Given the description of an element on the screen output the (x, y) to click on. 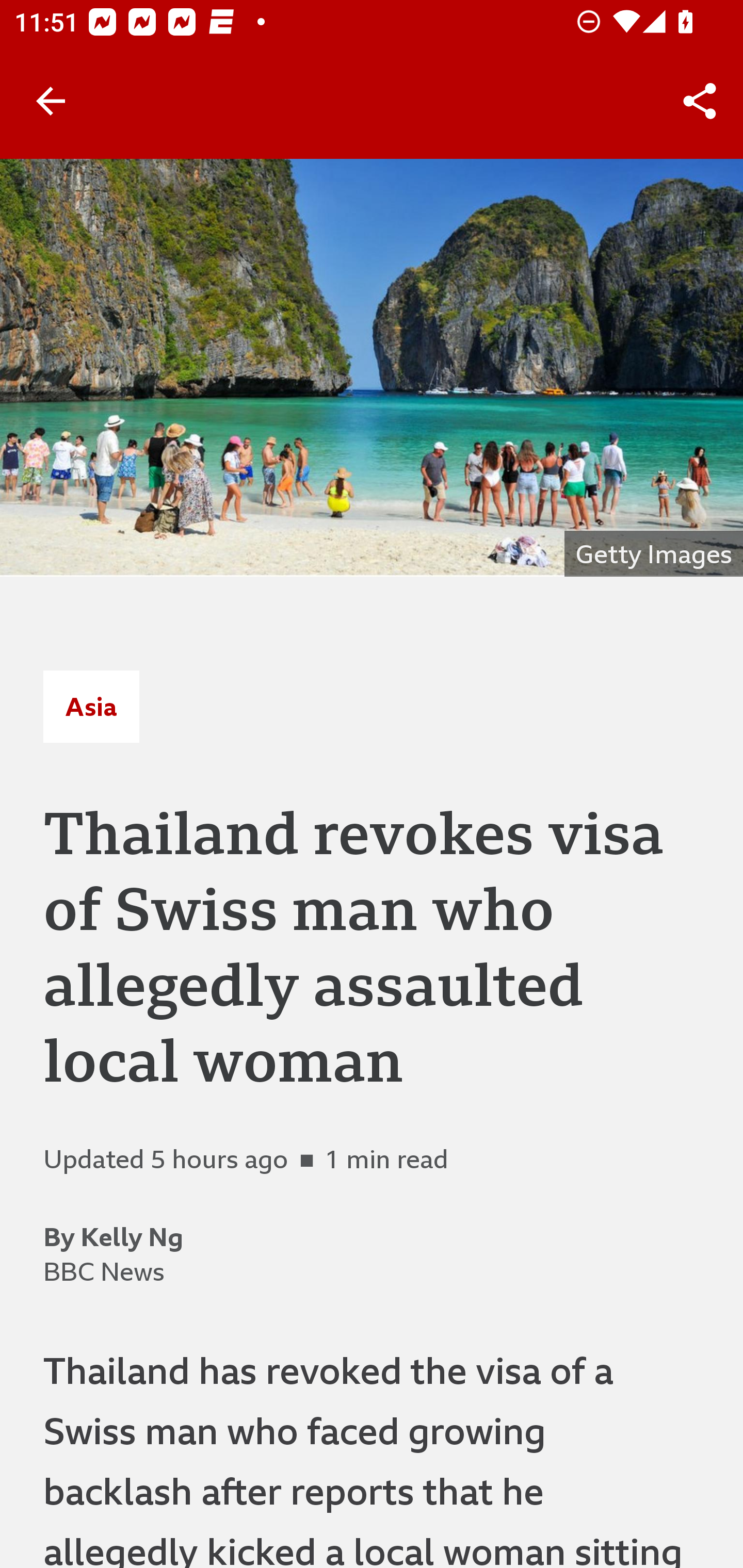
Back (50, 101)
Share (699, 101)
File photo of tourists on Maya Bay beach in Phuket (371, 367)
Asia (91, 706)
